Given the description of an element on the screen output the (x, y) to click on. 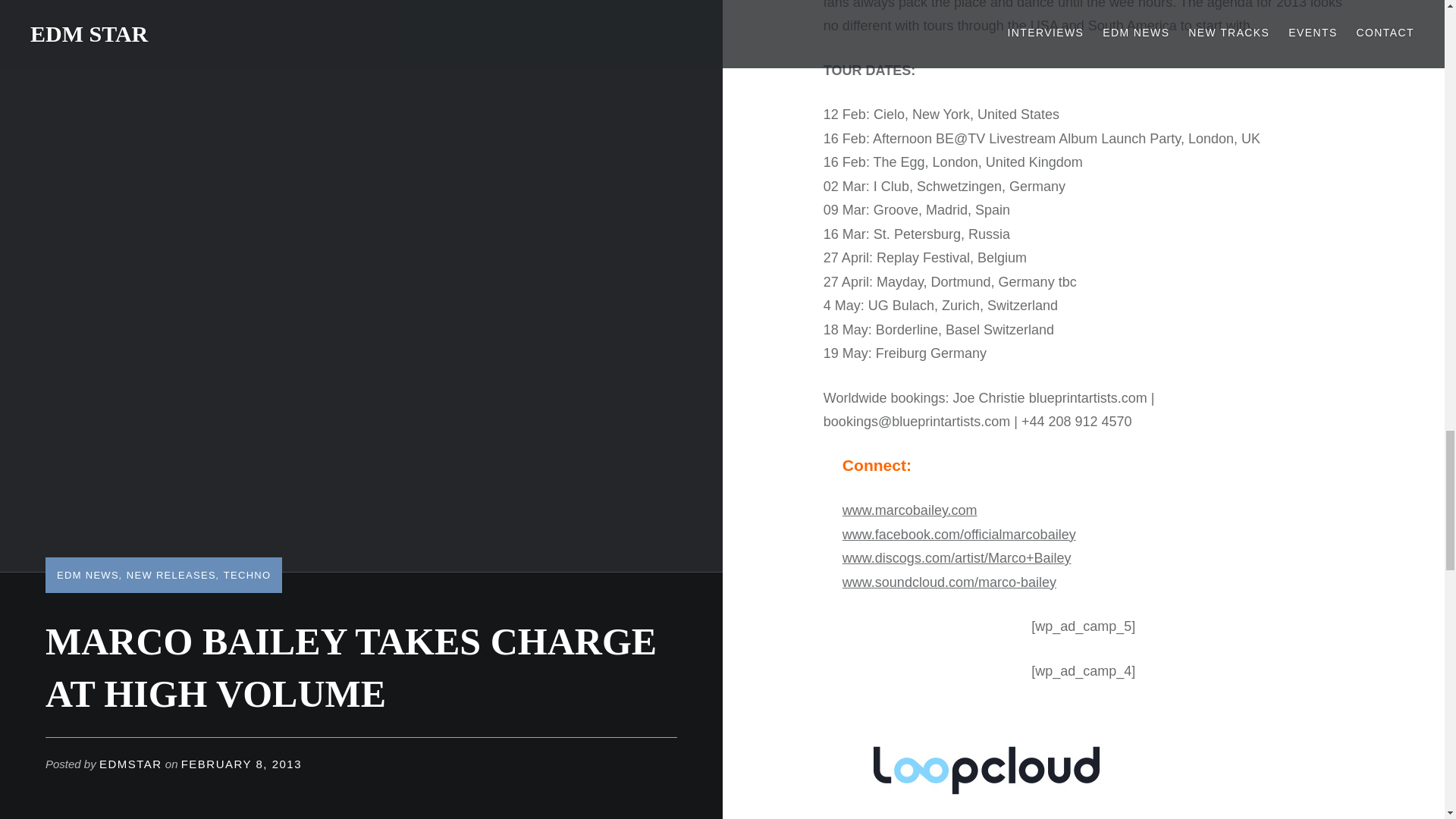
Loopcloud Music App from Loopmasters.com (1083, 764)
www.marcobailey.com (909, 509)
Marco Bailey (909, 509)
